Given the description of an element on the screen output the (x, y) to click on. 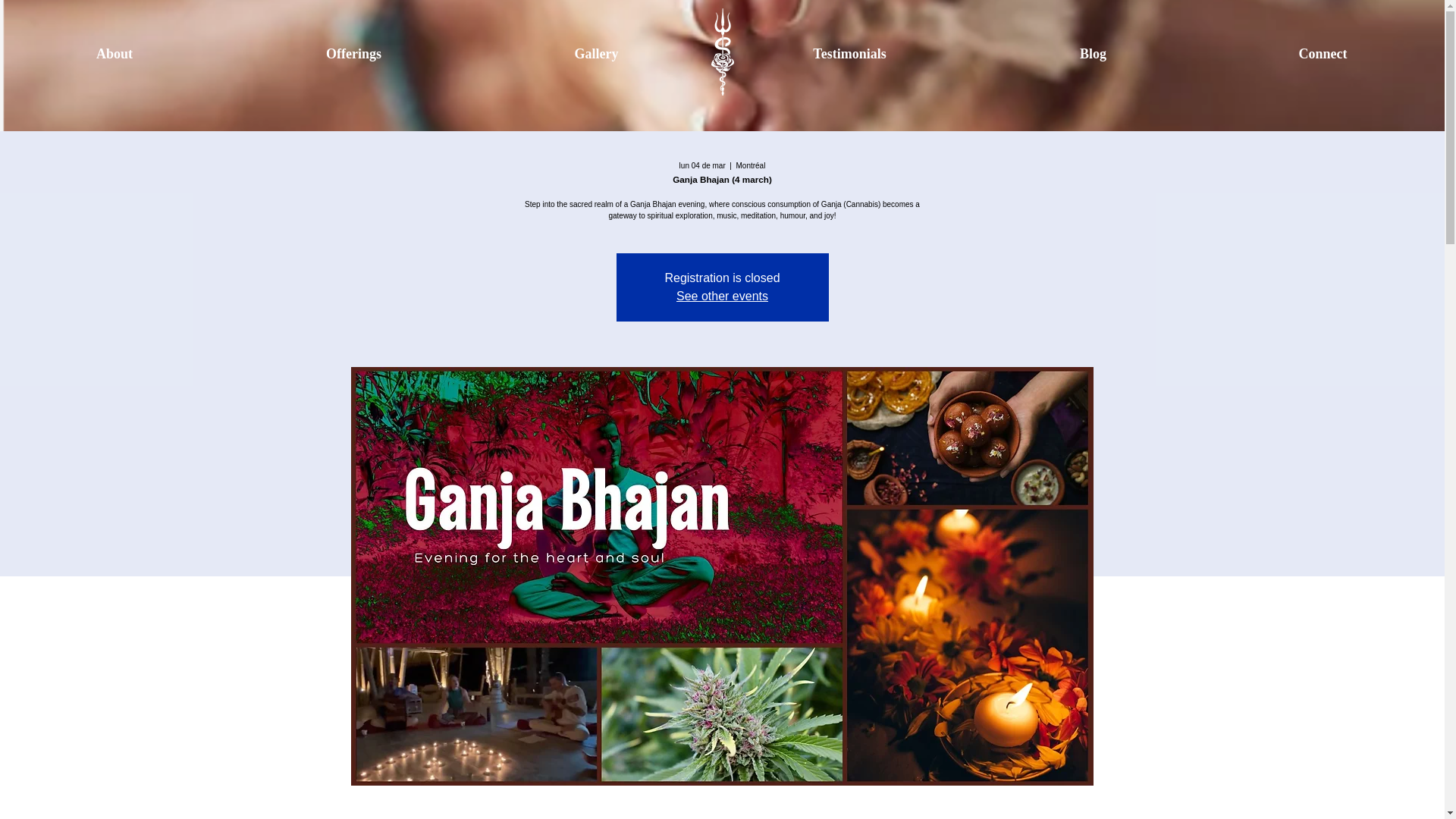
Blog (1093, 46)
Testimonials (849, 46)
About (114, 46)
Offerings (353, 46)
Gallery (596, 46)
See other events (722, 295)
